Given the description of an element on the screen output the (x, y) to click on. 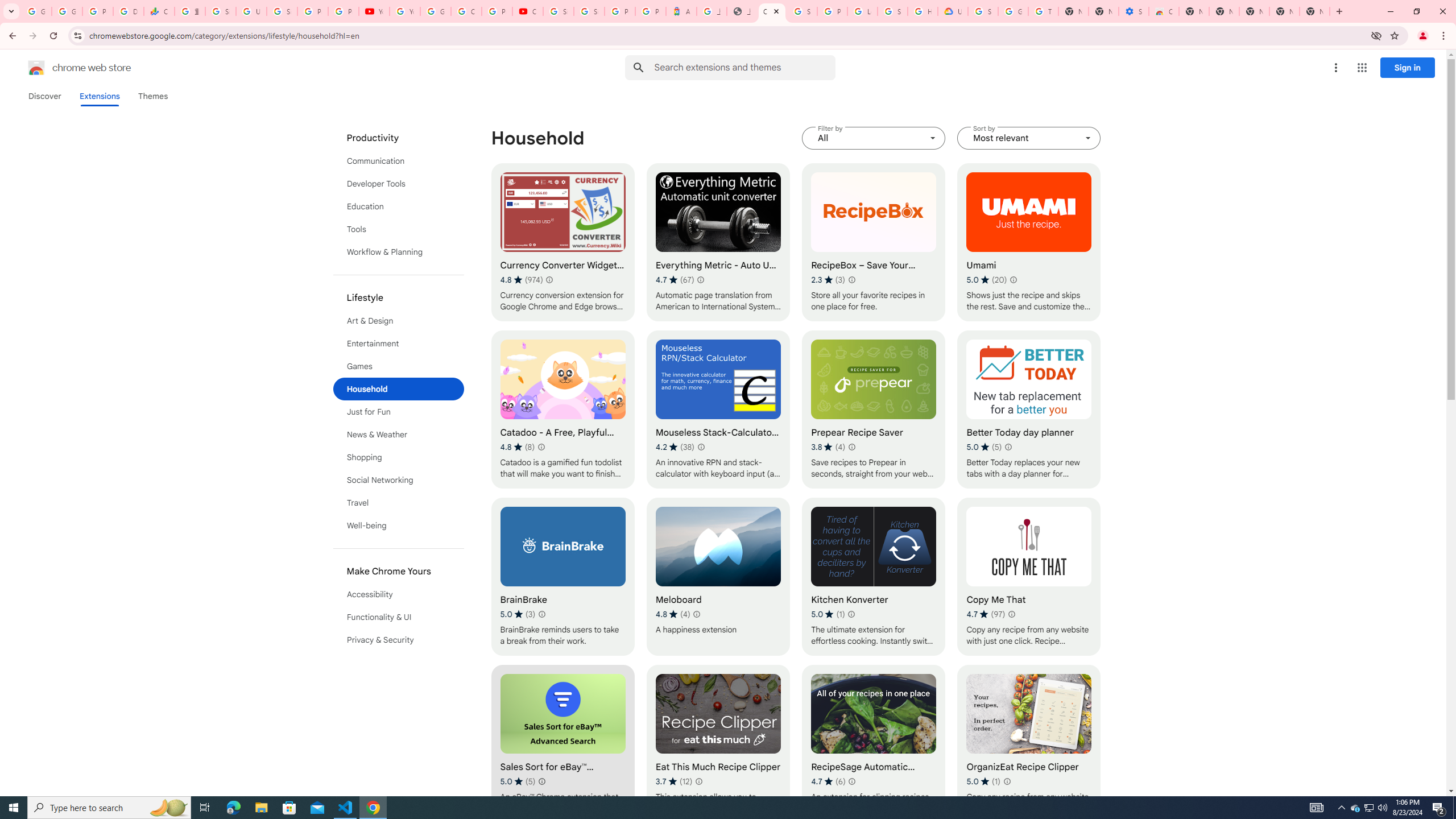
Mouseless Stack-Calculator Ext (718, 409)
Chrome Web Store - Household (771, 11)
Kitchen Konverter (874, 576)
Average rating 4.2 out of 5 stars. 38 ratings. (674, 446)
Entertainment (398, 343)
Privacy Checkup (343, 11)
Just for Fun (398, 411)
Functionality & UI (398, 617)
Education (398, 205)
BrainBrake (562, 576)
Communication (398, 160)
Average rating 5 out of 5 stars. 1 rating. (983, 781)
